Given the description of an element on the screen output the (x, y) to click on. 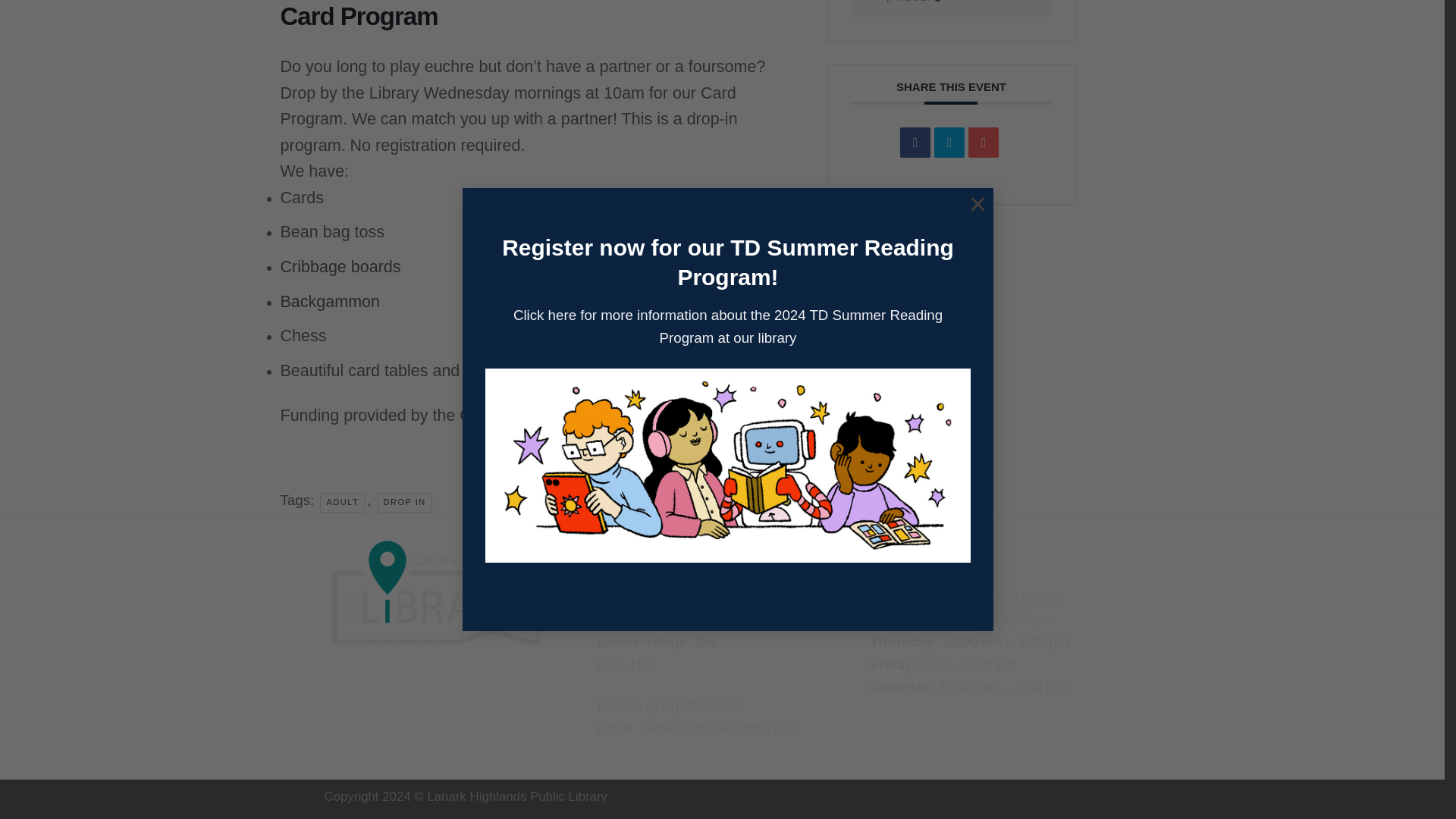
Share on Facebook (914, 142)
ADULT  (914, 1)
Email (983, 142)
Tweet (948, 142)
